Given the description of an element on the screen output the (x, y) to click on. 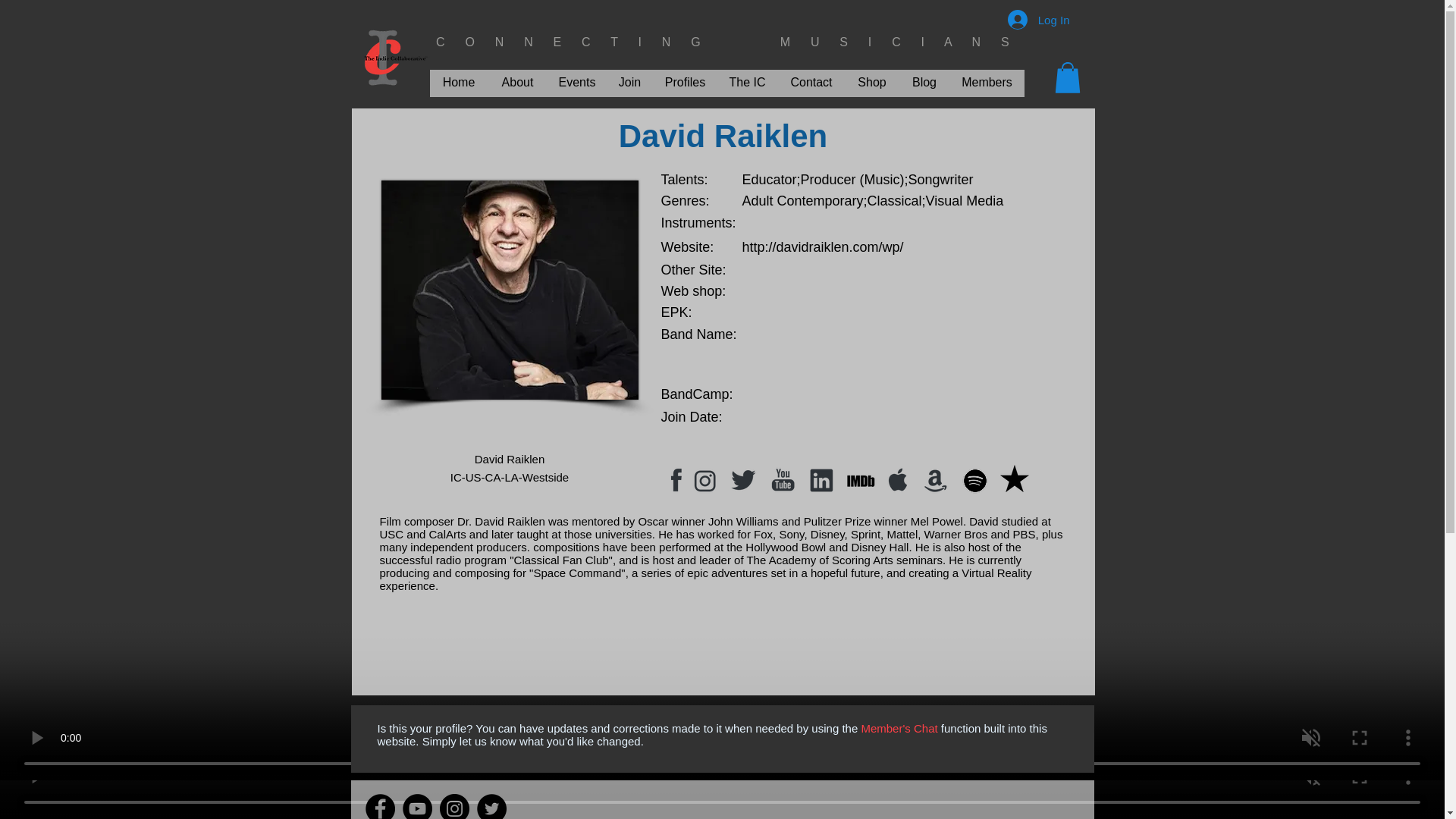
David Raiklen (508, 289)
About (517, 82)
Join (630, 82)
Shop (871, 82)
Contact (811, 82)
Log In (1038, 19)
Blog (924, 82)
Events (577, 82)
Home (458, 82)
The IC (747, 82)
Profiles (685, 82)
Members (986, 82)
